Given the description of an element on the screen output the (x, y) to click on. 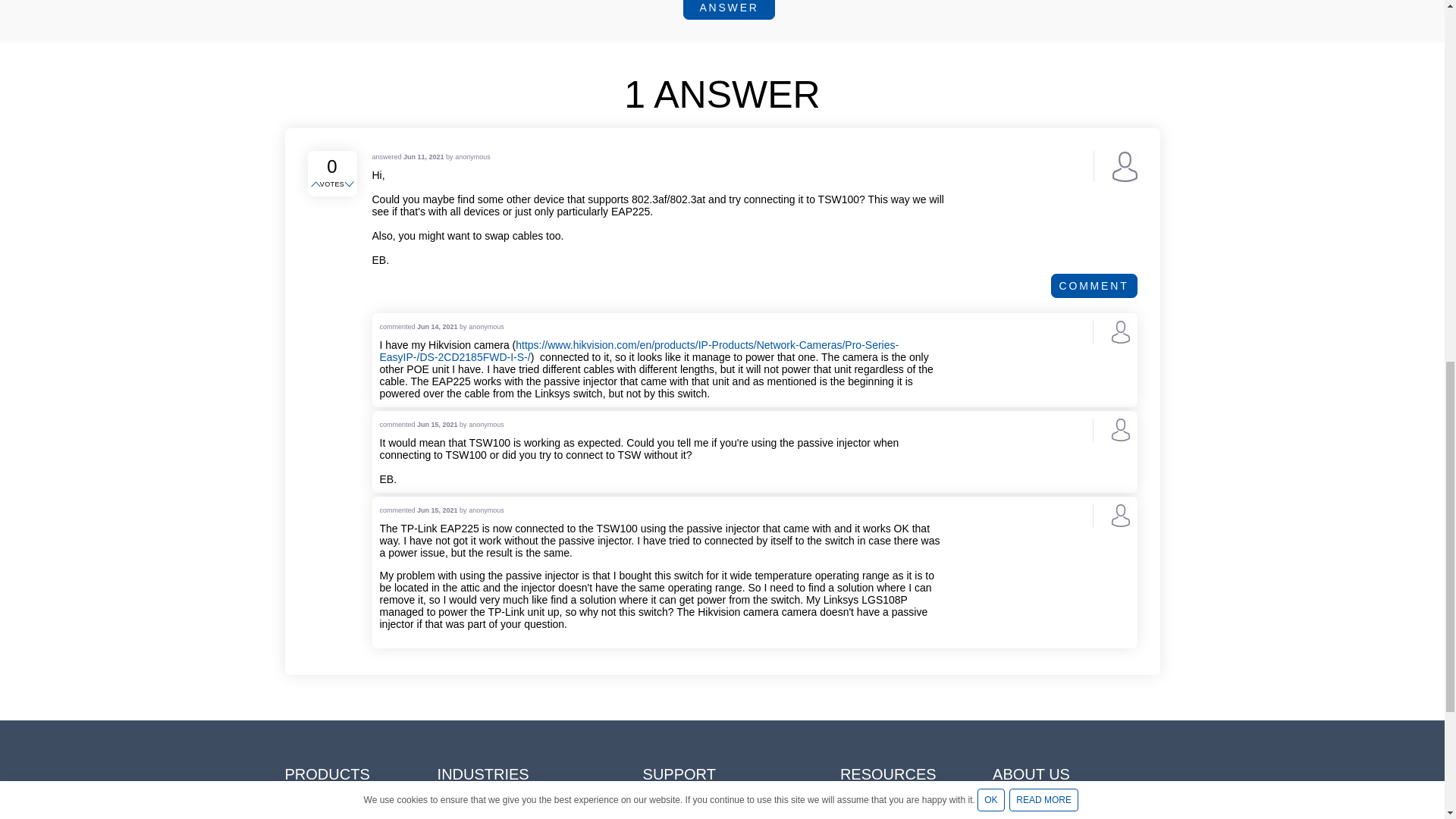
comment (1094, 285)
Add a comment on this answer (1094, 285)
Click to vote up (317, 184)
answer (728, 9)
Answer this question (728, 9)
Click to vote down (349, 184)
